Given the description of an element on the screen output the (x, y) to click on. 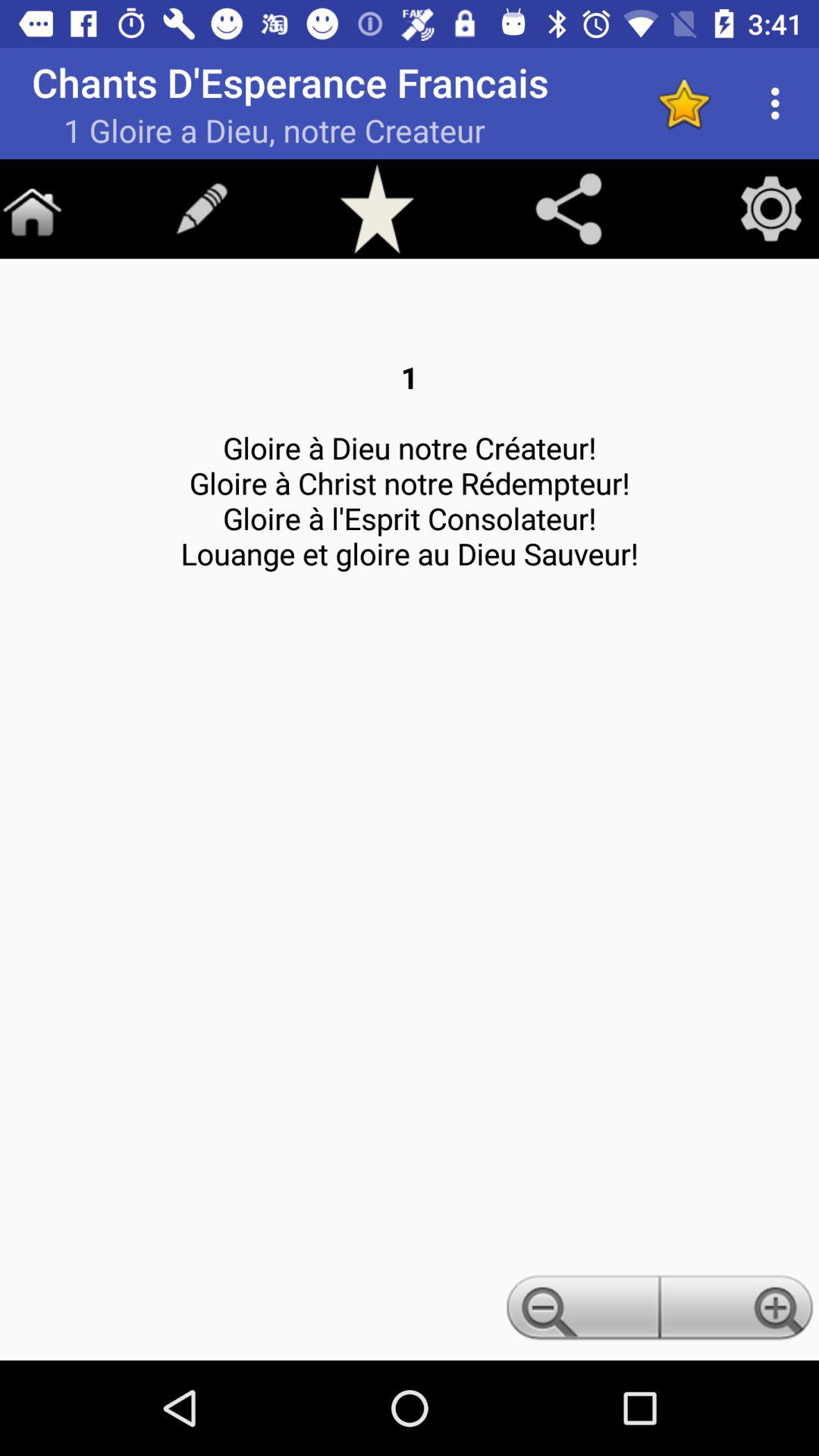
go to favorite (683, 103)
